Given the description of an element on the screen output the (x, y) to click on. 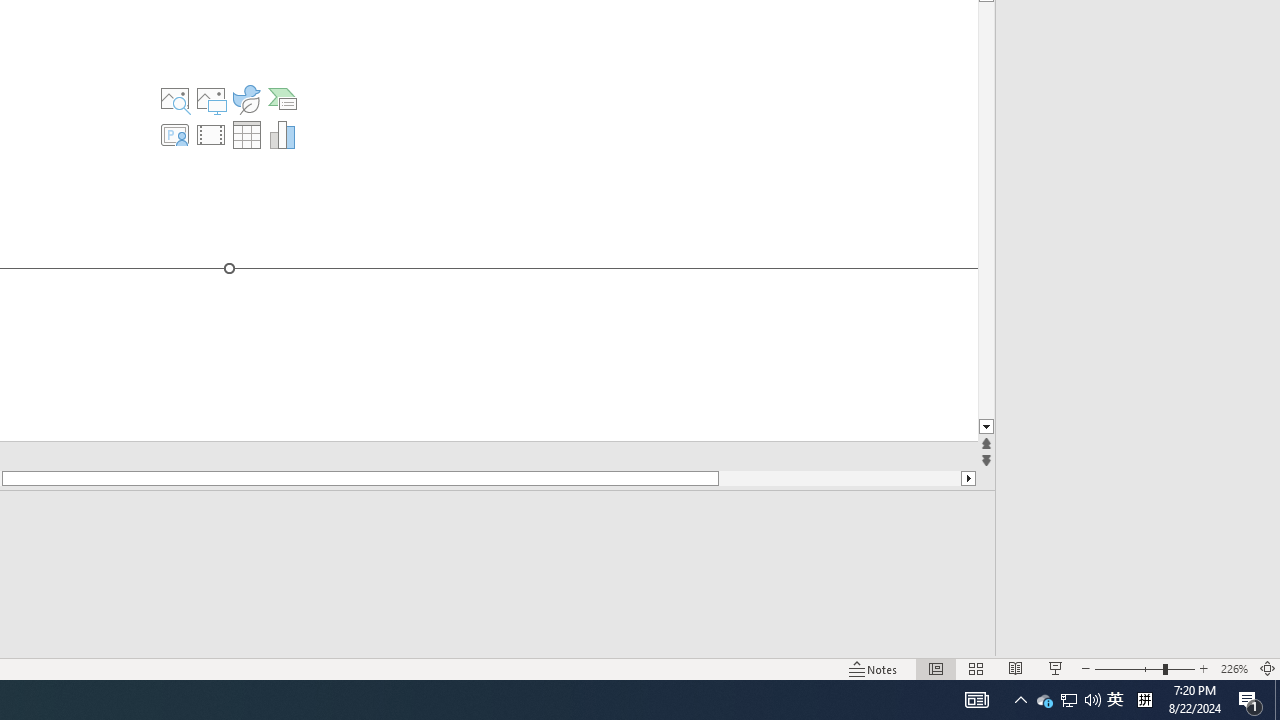
Insert a SmartArt Graphic (283, 98)
Insert Video (210, 134)
Insert an Icon (246, 98)
Stock Images (174, 98)
Insert Chart (283, 134)
